Given the description of an element on the screen output the (x, y) to click on. 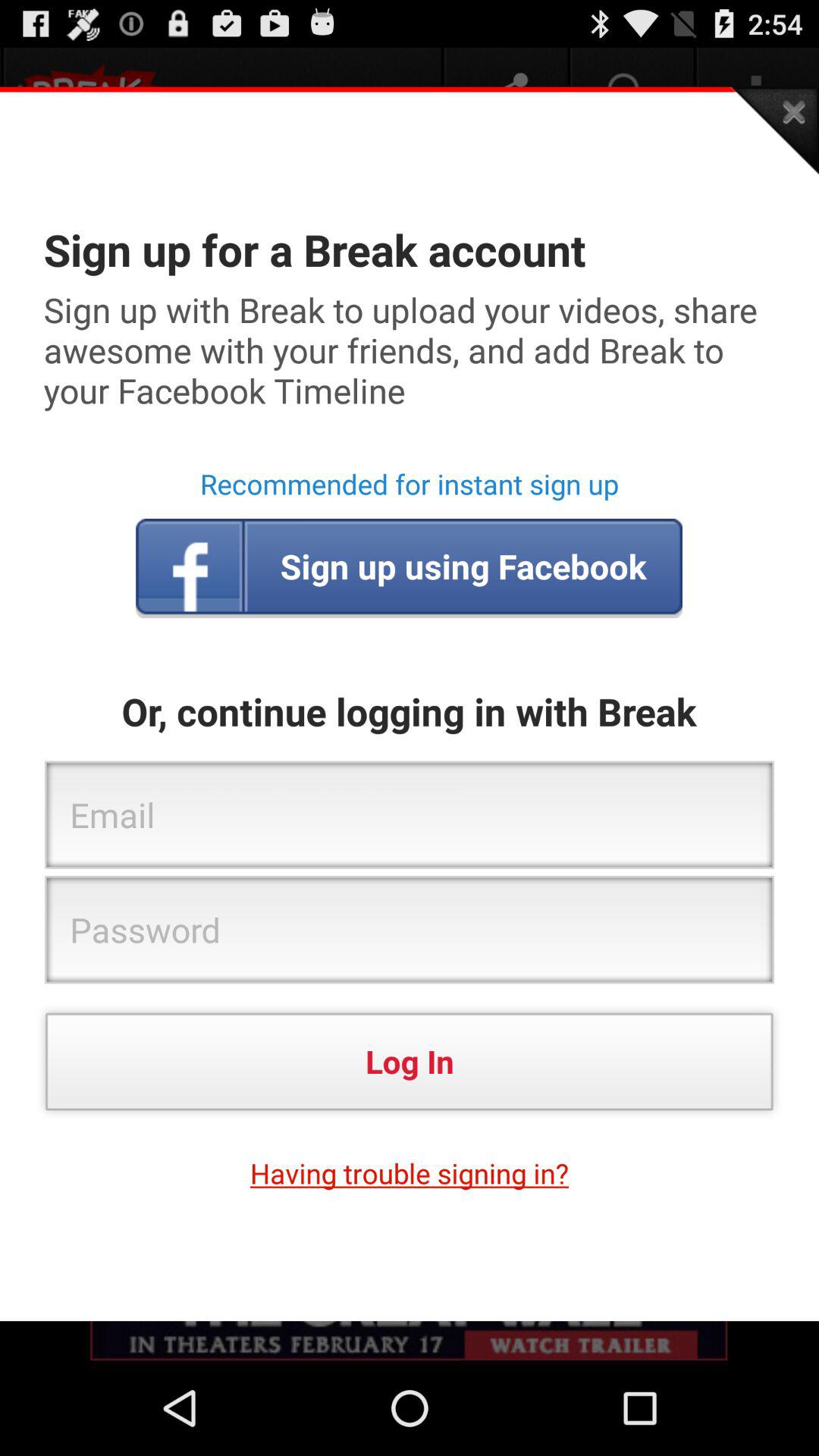
turn off icon below the log in item (409, 1172)
